Given the description of an element on the screen output the (x, y) to click on. 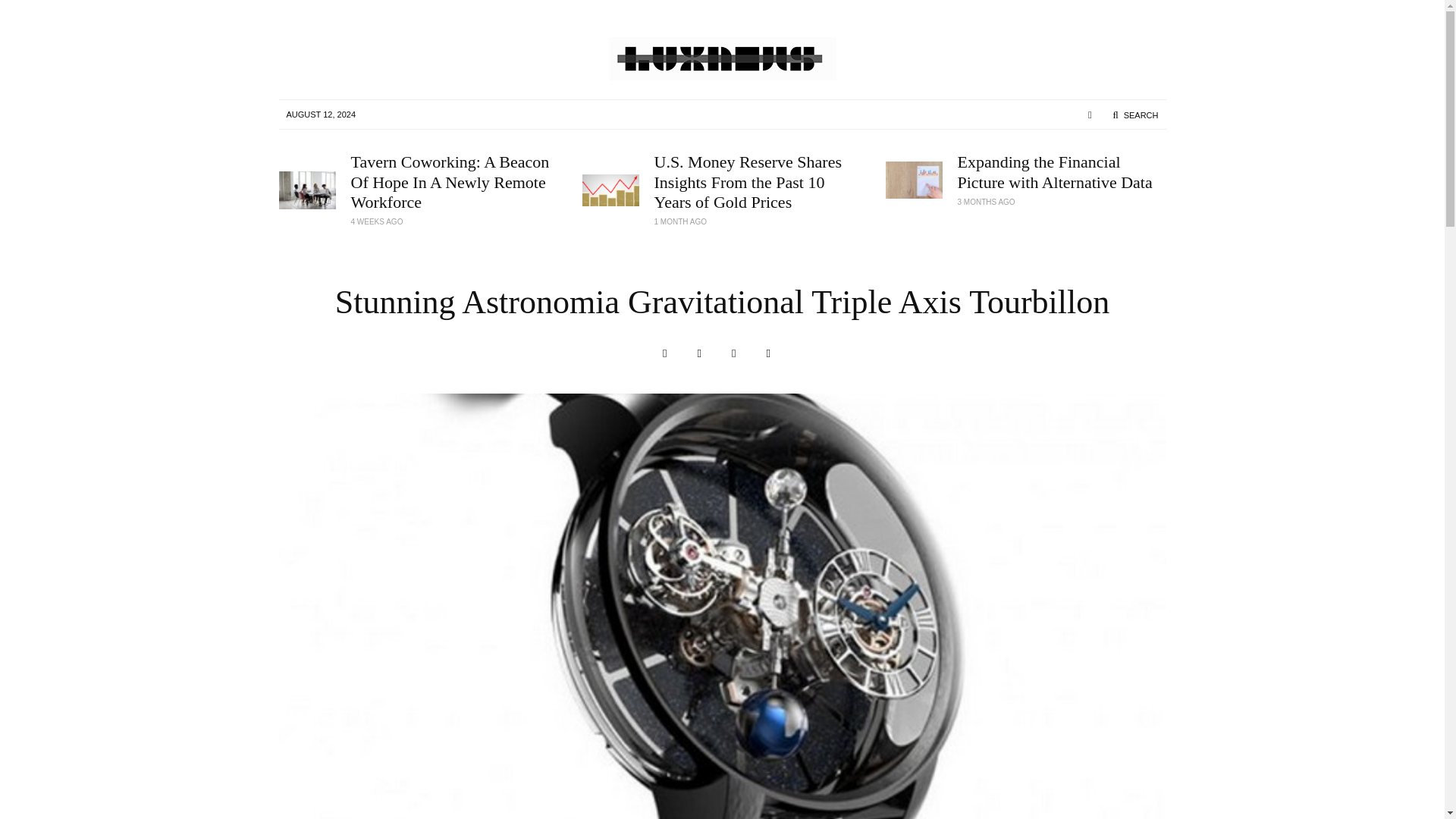
SEARCH (1135, 114)
Expanding the Financial Picture with Alternative Data (1061, 172)
